Given the description of an element on the screen output the (x, y) to click on. 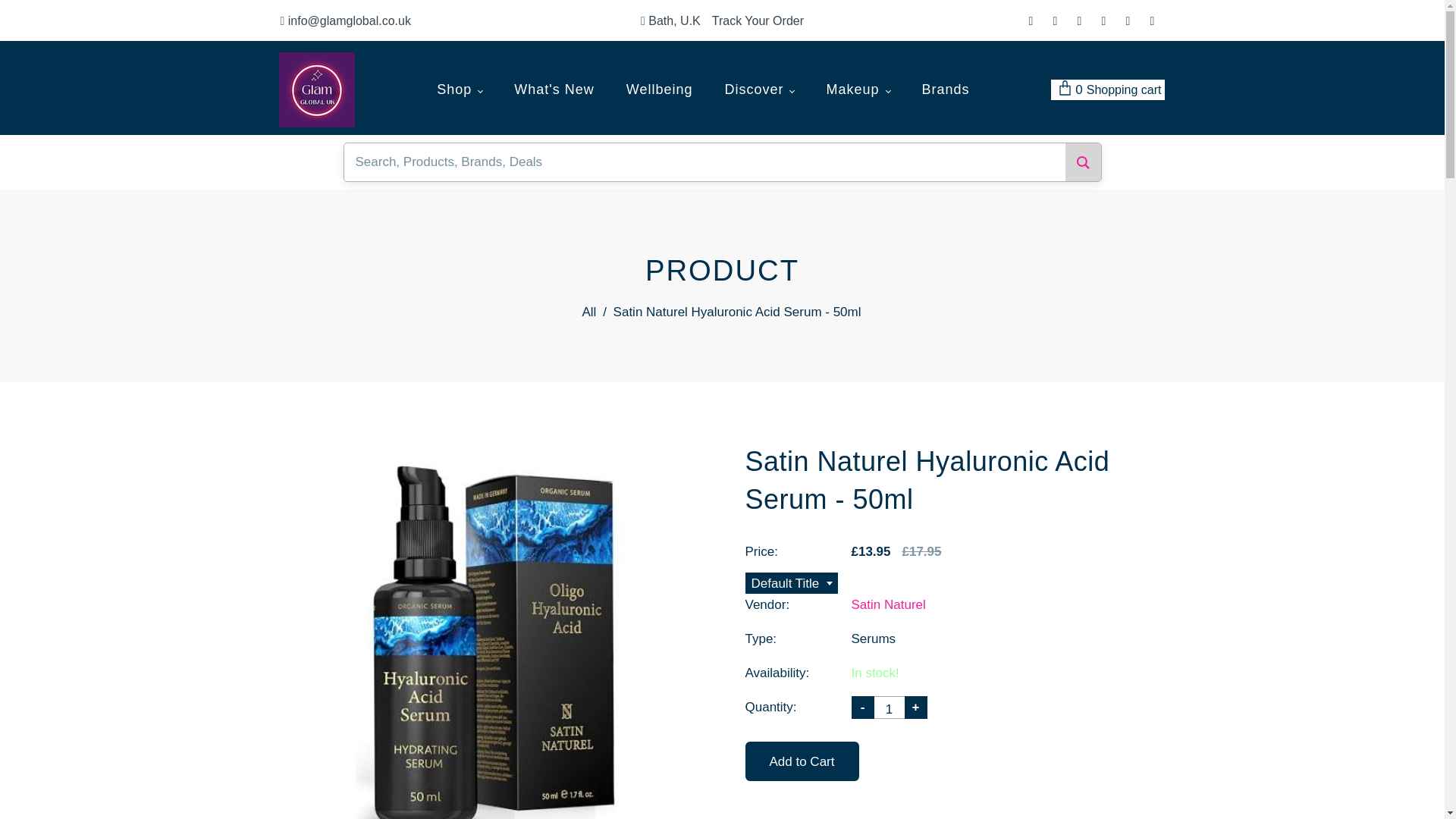
1 (888, 707)
Twitter (1030, 20)
Instagram (1103, 20)
Glam Global UK (317, 88)
Linkedin (1151, 20)
Wellbeing (659, 89)
Facebook (1054, 20)
YouTube (1127, 20)
Twitter (1030, 20)
What's New (553, 89)
